Given the description of an element on the screen output the (x, y) to click on. 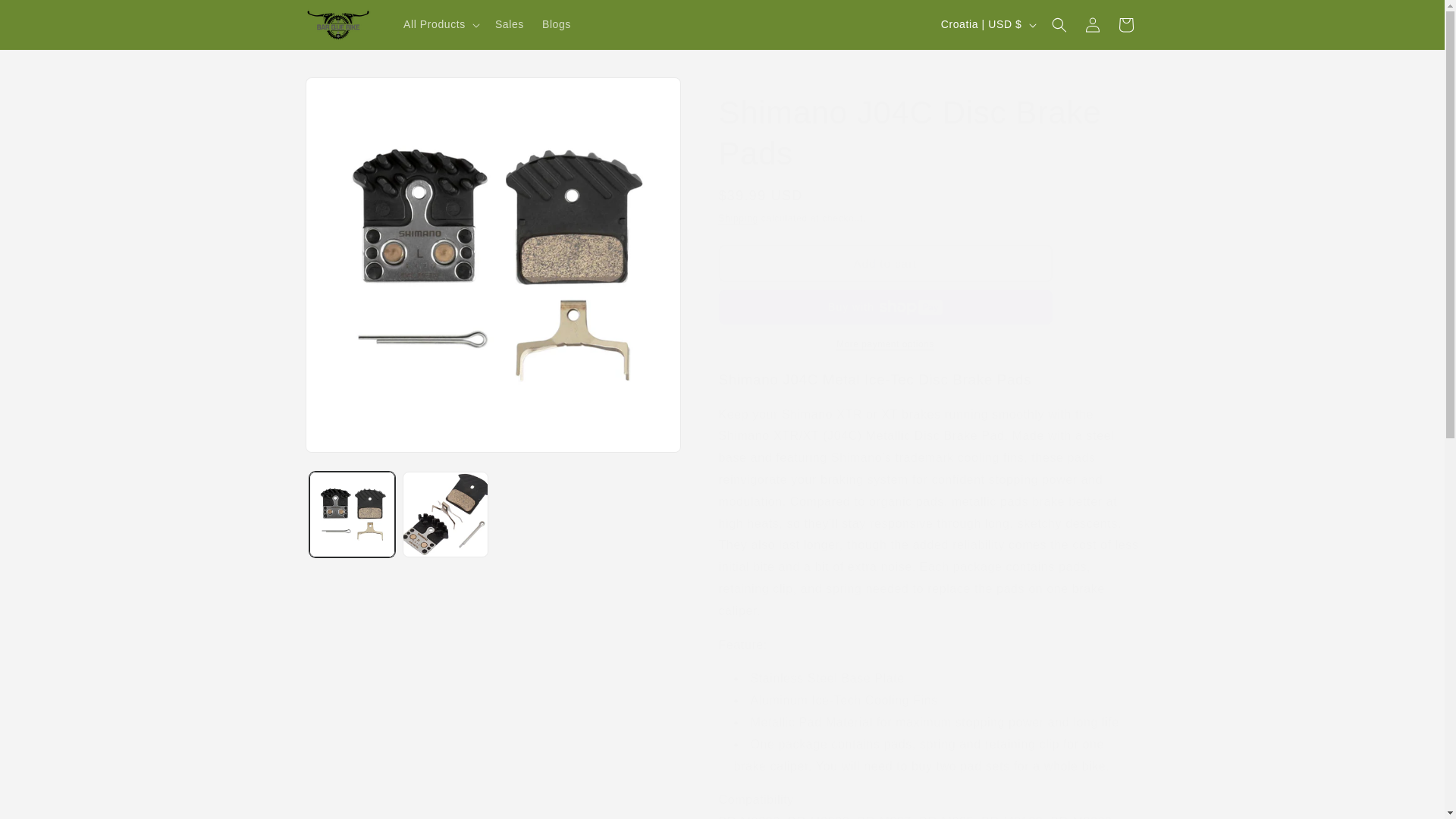
Skip to content (46, 18)
Cart (1124, 23)
Sales (509, 24)
Log in (1091, 23)
Blogs (555, 24)
